Given the description of an element on the screen output the (x, y) to click on. 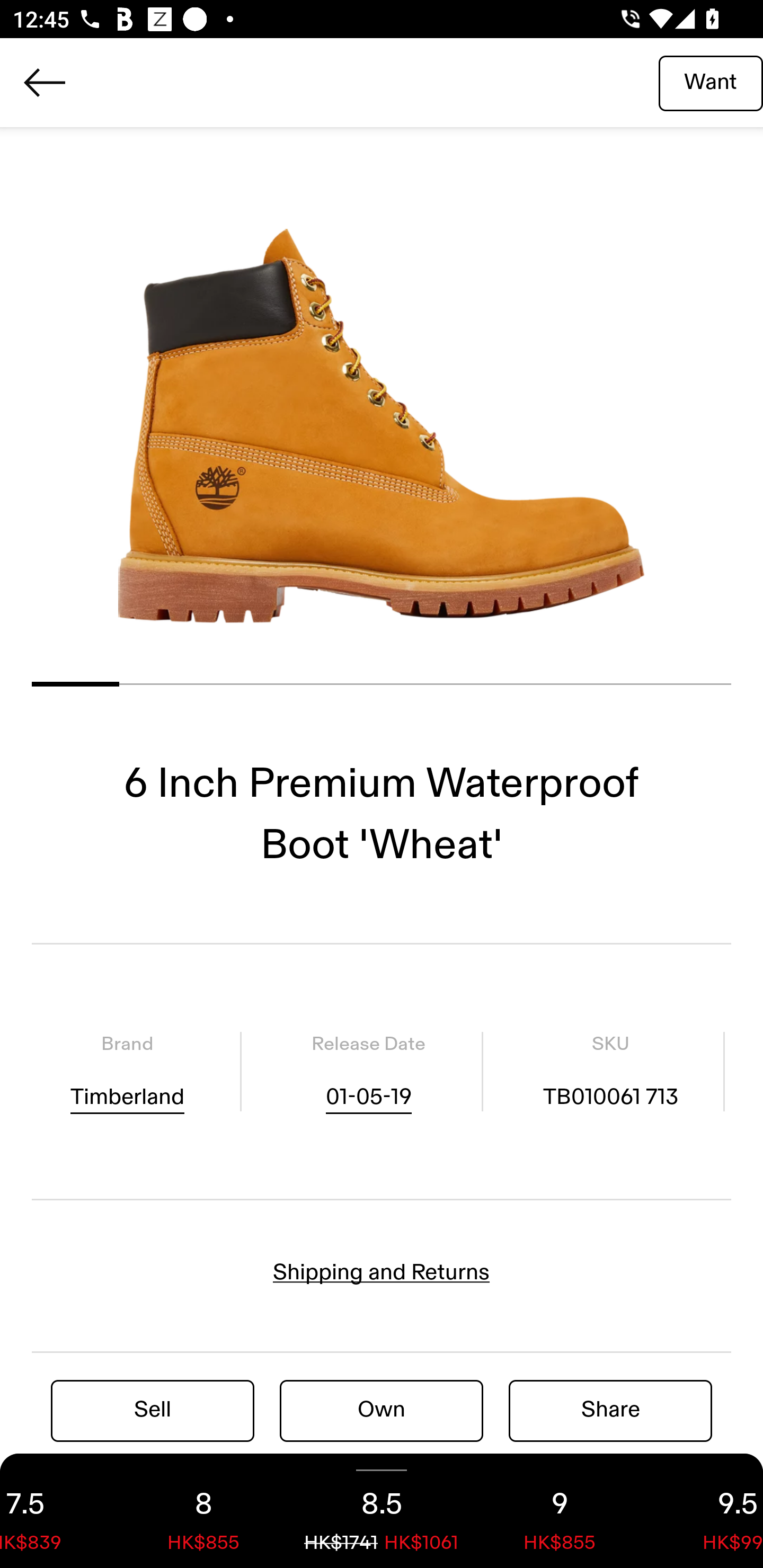
Want (710, 82)
Brand Timberland (126, 1070)
Release Date 01-05-19 (368, 1070)
SKU TB010061 713 (609, 1070)
Shipping and Returns (381, 1272)
Sell (152, 1410)
Own (381, 1410)
Share (609, 1410)
7.5 HK$839 (57, 1510)
8 HK$855 (203, 1510)
8.5 HK$1741 HK$1061 (381, 1510)
9 HK$855 (559, 1510)
9.5 HK$997 (705, 1510)
